Given the description of an element on the screen output the (x, y) to click on. 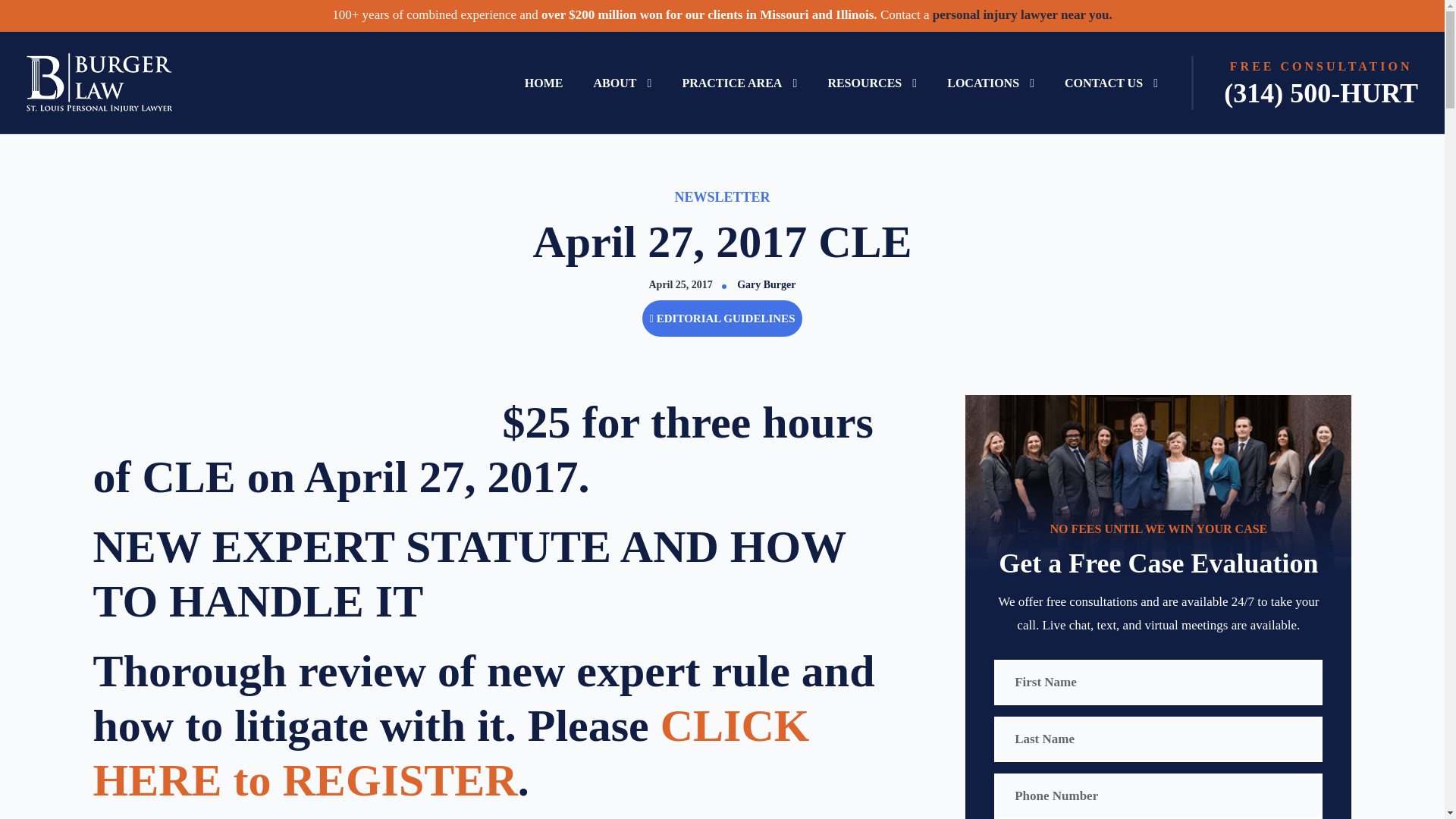
personal injury lawyer near you. (1022, 14)
HOME (543, 82)
ABOUT (621, 82)
PRACTICE AREA (738, 82)
